Given the description of an element on the screen output the (x, y) to click on. 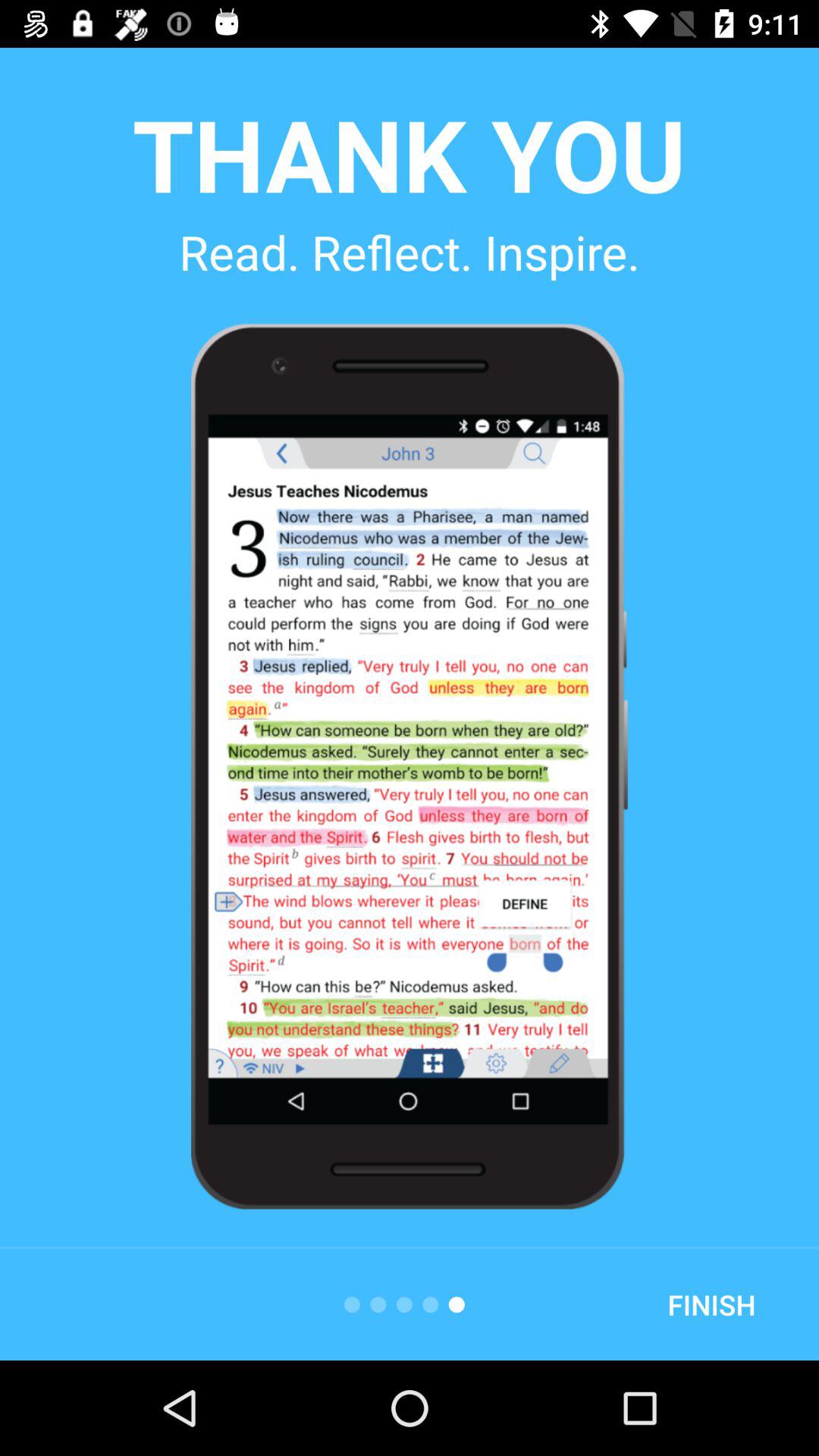
swipe until thank you (408, 153)
